Given the description of an element on the screen output the (x, y) to click on. 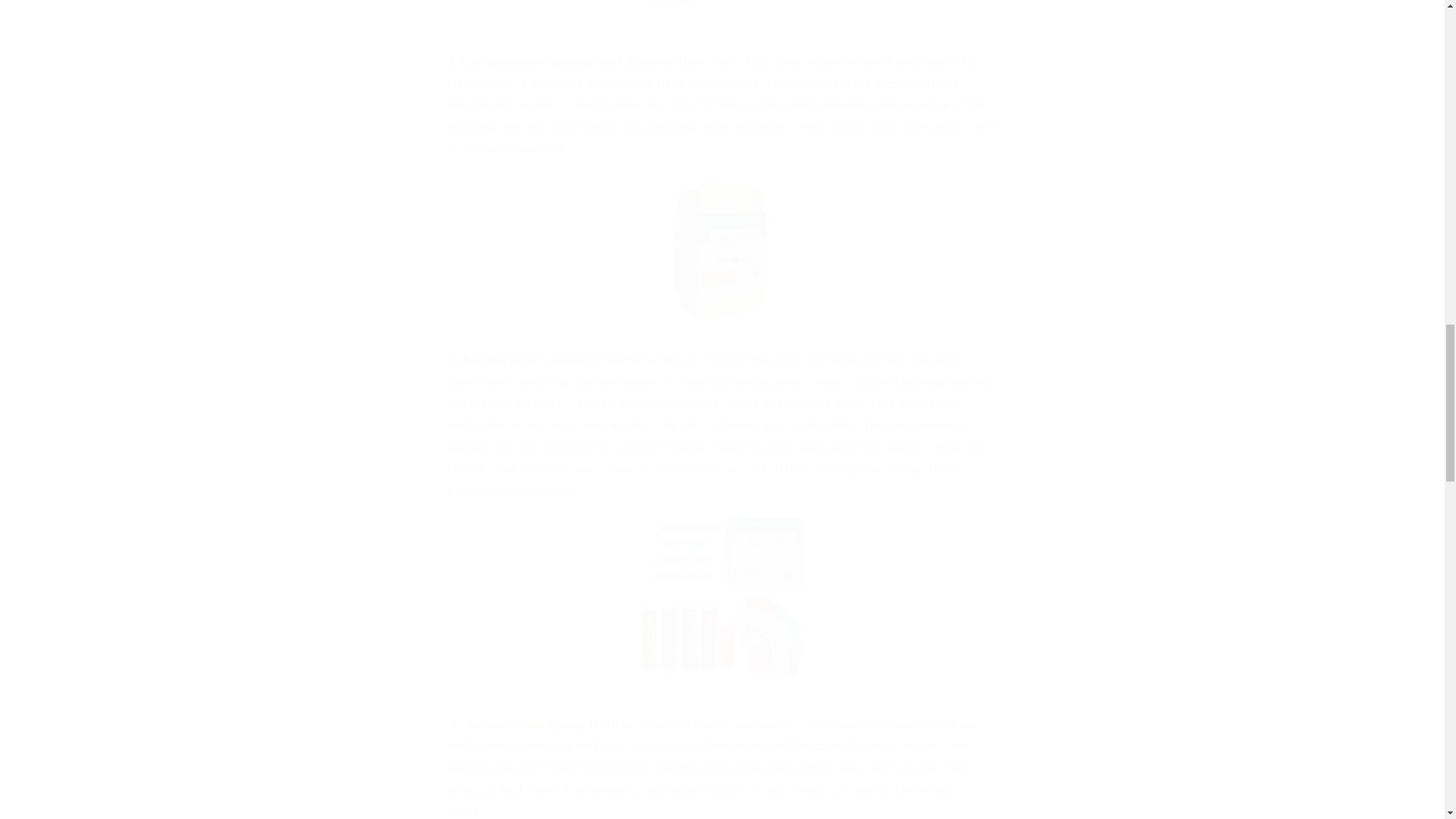
Duo Sponge Scourer (582, 61)
Glass Bottles (549, 724)
